Given the description of an element on the screen output the (x, y) to click on. 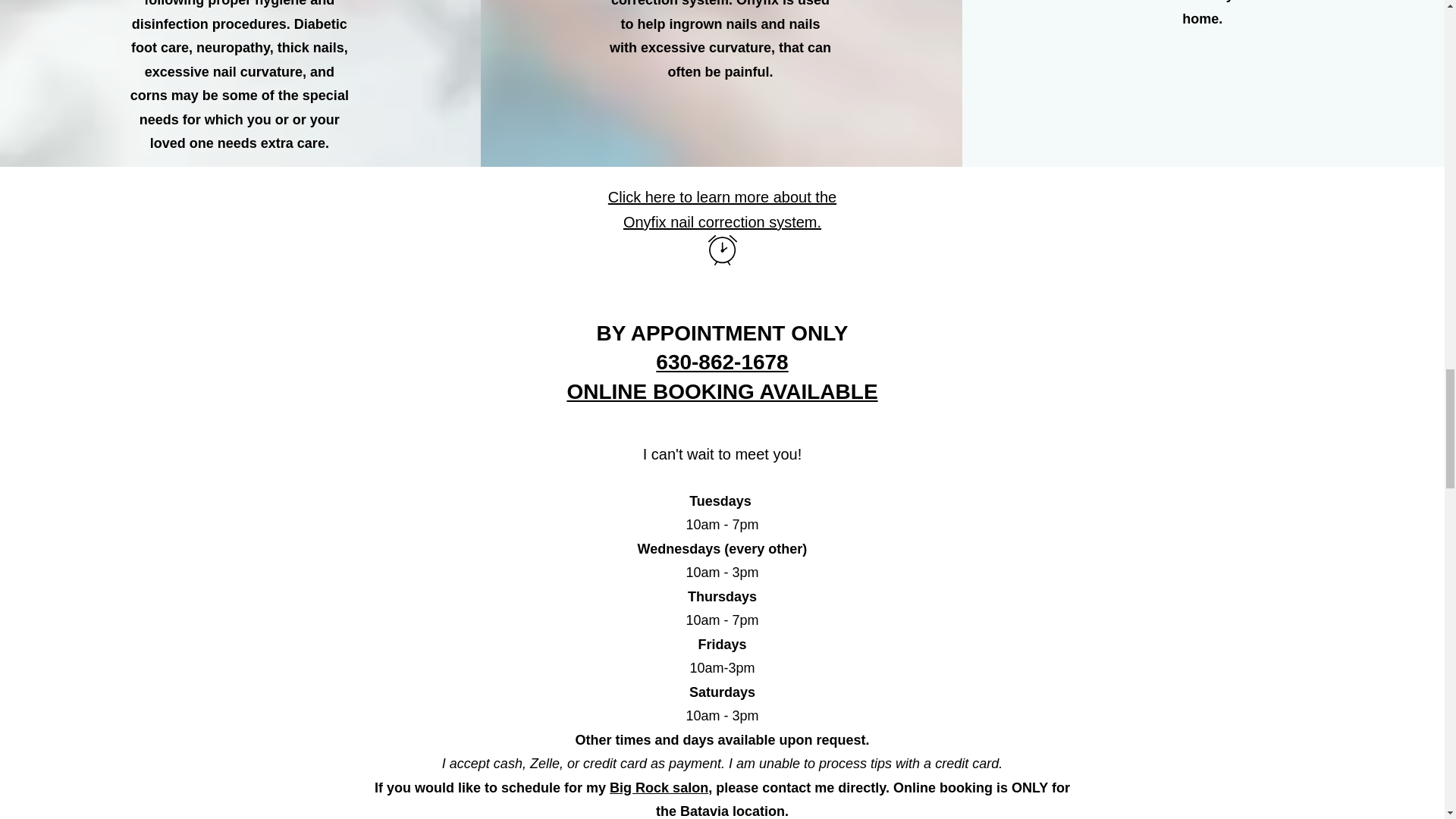
ONLINE BOOKING AVAILABLE (721, 391)
630-862-1678 (721, 361)
